Given the description of an element on the screen output the (x, y) to click on. 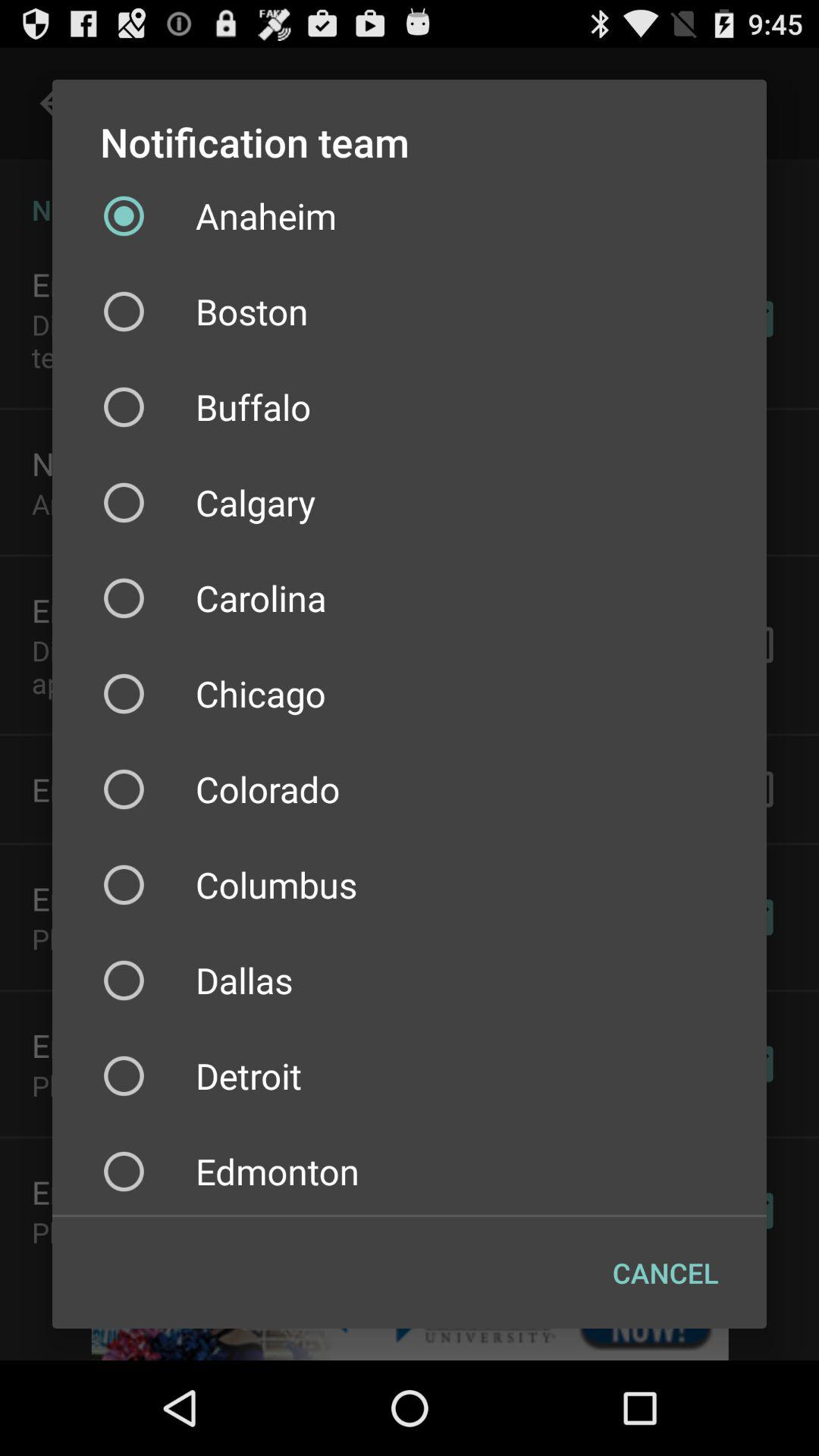
launch item below edmonton (665, 1272)
